Given the description of an element on the screen output the (x, y) to click on. 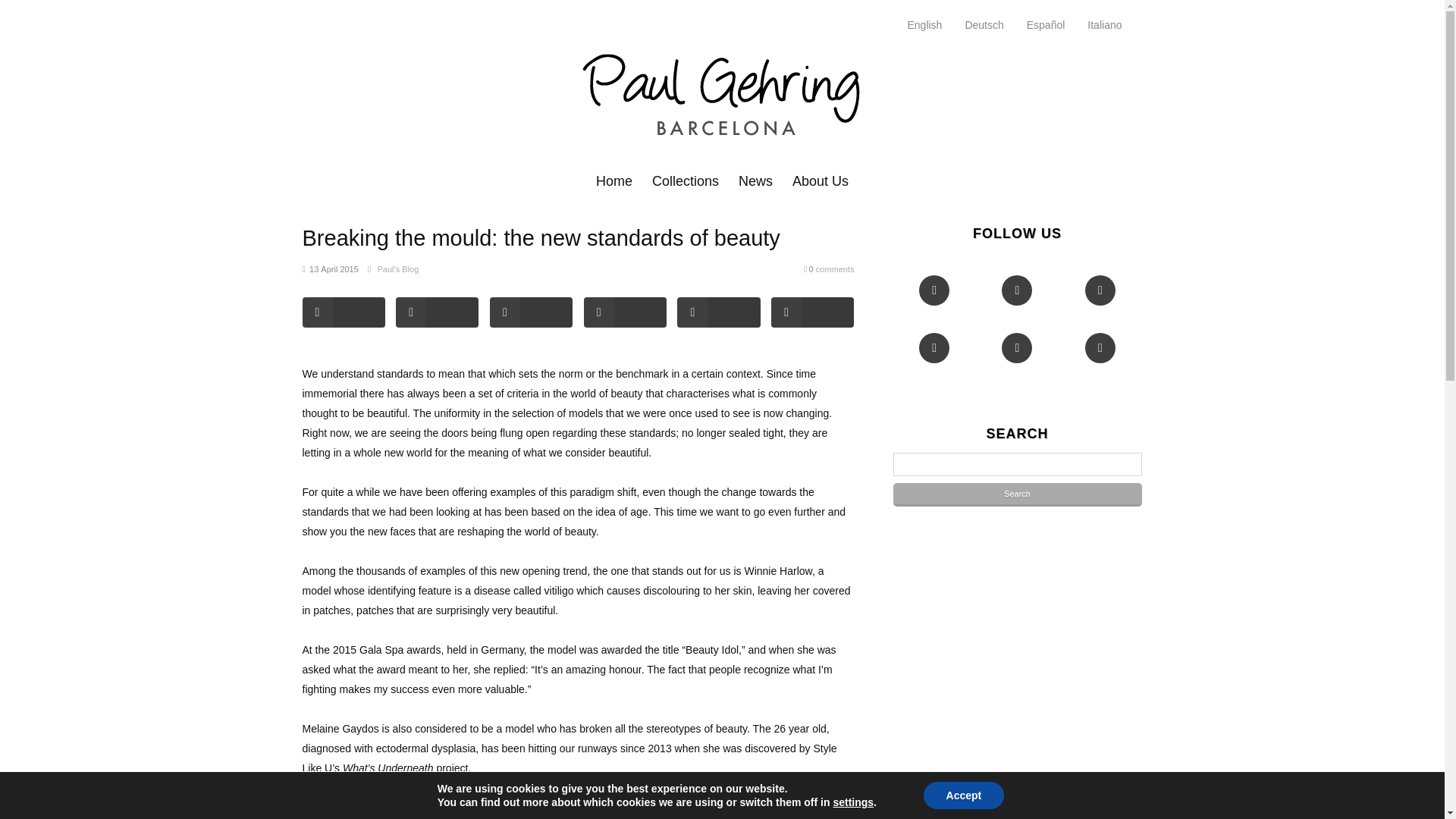
Collections (685, 180)
Accept (963, 795)
News (756, 180)
2015-04-13 (934, 303)
0 comments (329, 269)
About Us (1099, 303)
English (1016, 303)
Home (828, 269)
Search (821, 180)
Search (926, 25)
Italiano (934, 361)
